Given the description of an element on the screen output the (x, y) to click on. 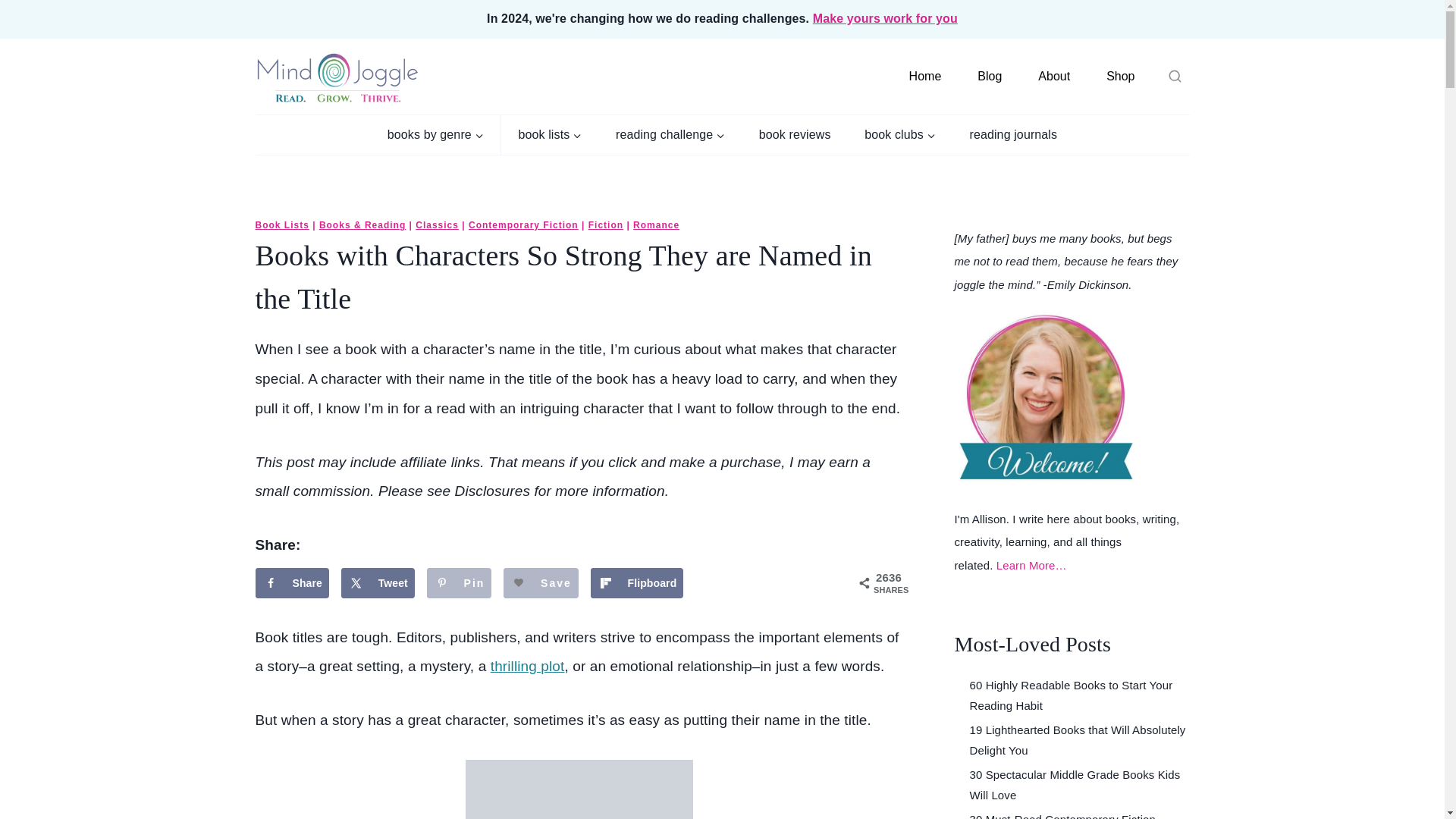
Book Lists (281, 225)
Blog (989, 76)
Fiction (605, 225)
Make yours work for you (885, 18)
About (1053, 76)
Classics (436, 225)
reading challenge (670, 134)
Save on Grow.me (540, 583)
Contemporary Fiction (523, 225)
book reviews (794, 134)
book lists (549, 134)
books by genre (436, 134)
reading journals (1013, 134)
